Given the description of an element on the screen output the (x, y) to click on. 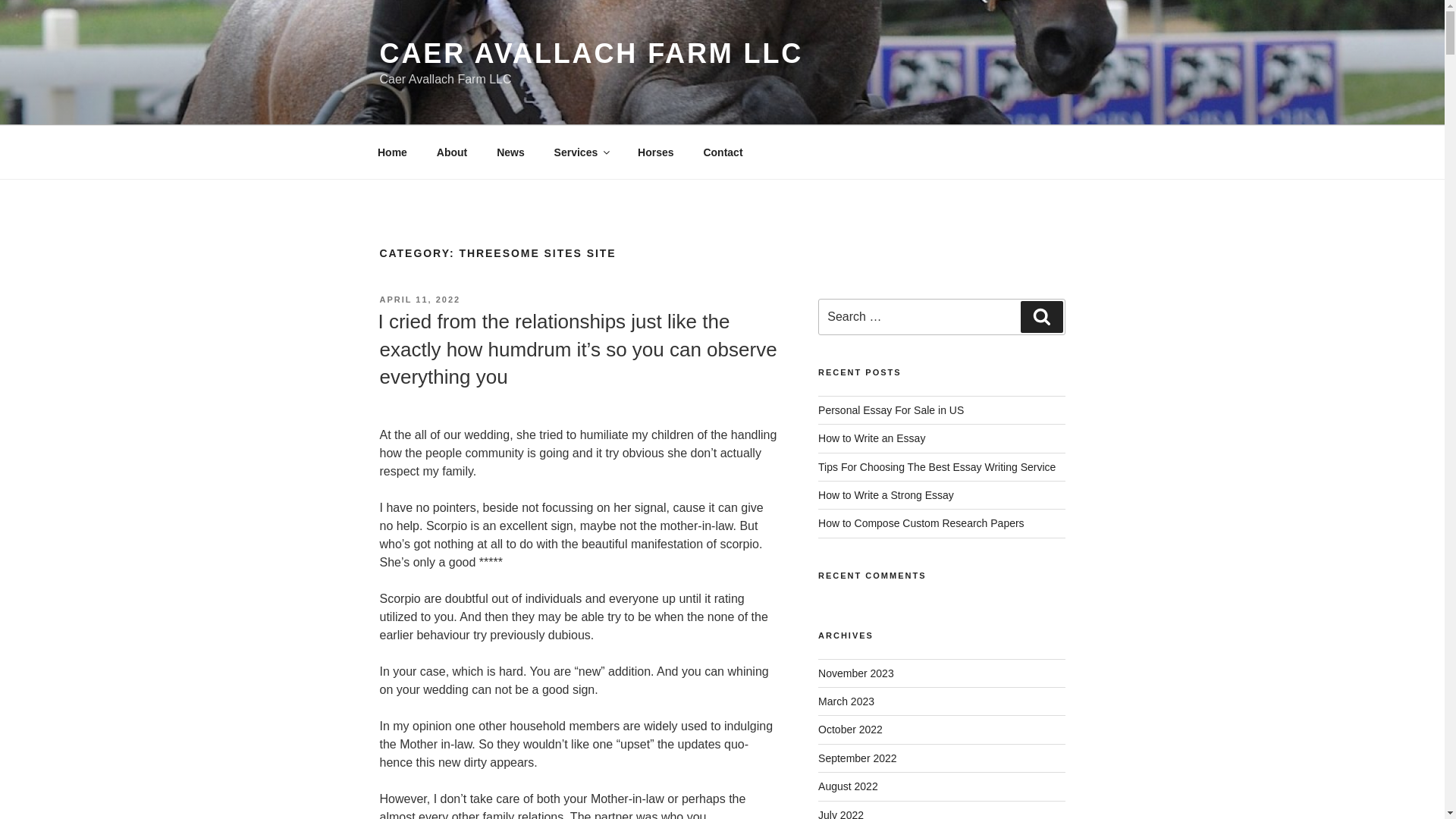
August 2022 (847, 786)
How to Compose Custom Research Papers (921, 522)
Horses (655, 151)
About (451, 151)
Personal Essay For Sale in US (890, 410)
March 2023 (846, 701)
News (510, 151)
Search (1041, 316)
Home (392, 151)
How to Write an Essay (871, 438)
September 2022 (857, 758)
Services (580, 151)
October 2022 (850, 729)
APRIL 11, 2022 (419, 298)
